Given the description of an element on the screen output the (x, y) to click on. 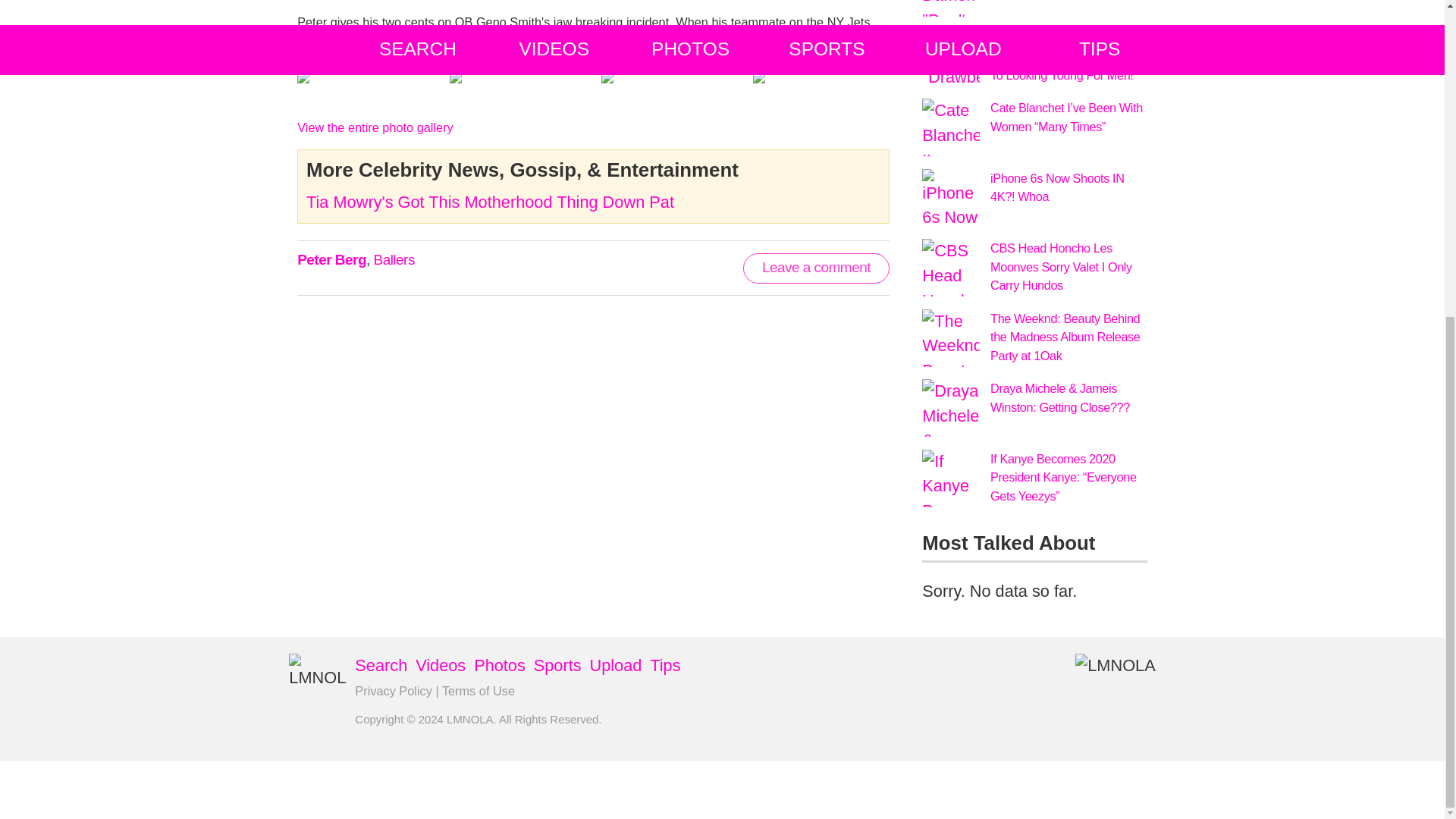
Tia Mowry's Got This Motherhood Thing Down Pat (489, 201)
Film Director Peter Berg My Favorite All Time Movie Is (374, 127)
Film Director Peter Berg My Favorite All Time Movie Is (541, 41)
Ballers (392, 259)
Leave a comment (815, 268)
read more (541, 41)
View the entire photo gallery (374, 127)
Peter Berg (331, 259)
